Given the description of an element on the screen output the (x, y) to click on. 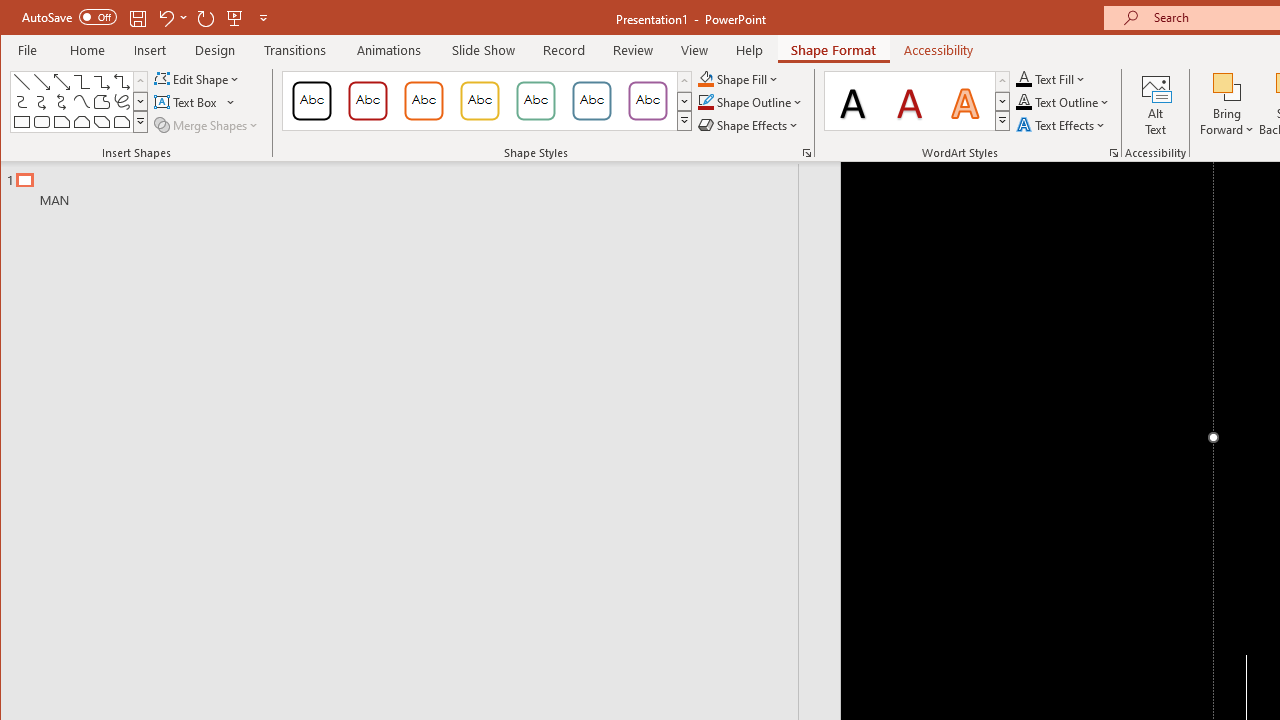
AutomationID: ShapeStylesGallery (488, 101)
Colored Outline - Orange, Accent 2 (423, 100)
Rectangle: Top Corners Snipped (81, 121)
Edit Shape (198, 78)
